Given the description of an element on the screen output the (x, y) to click on. 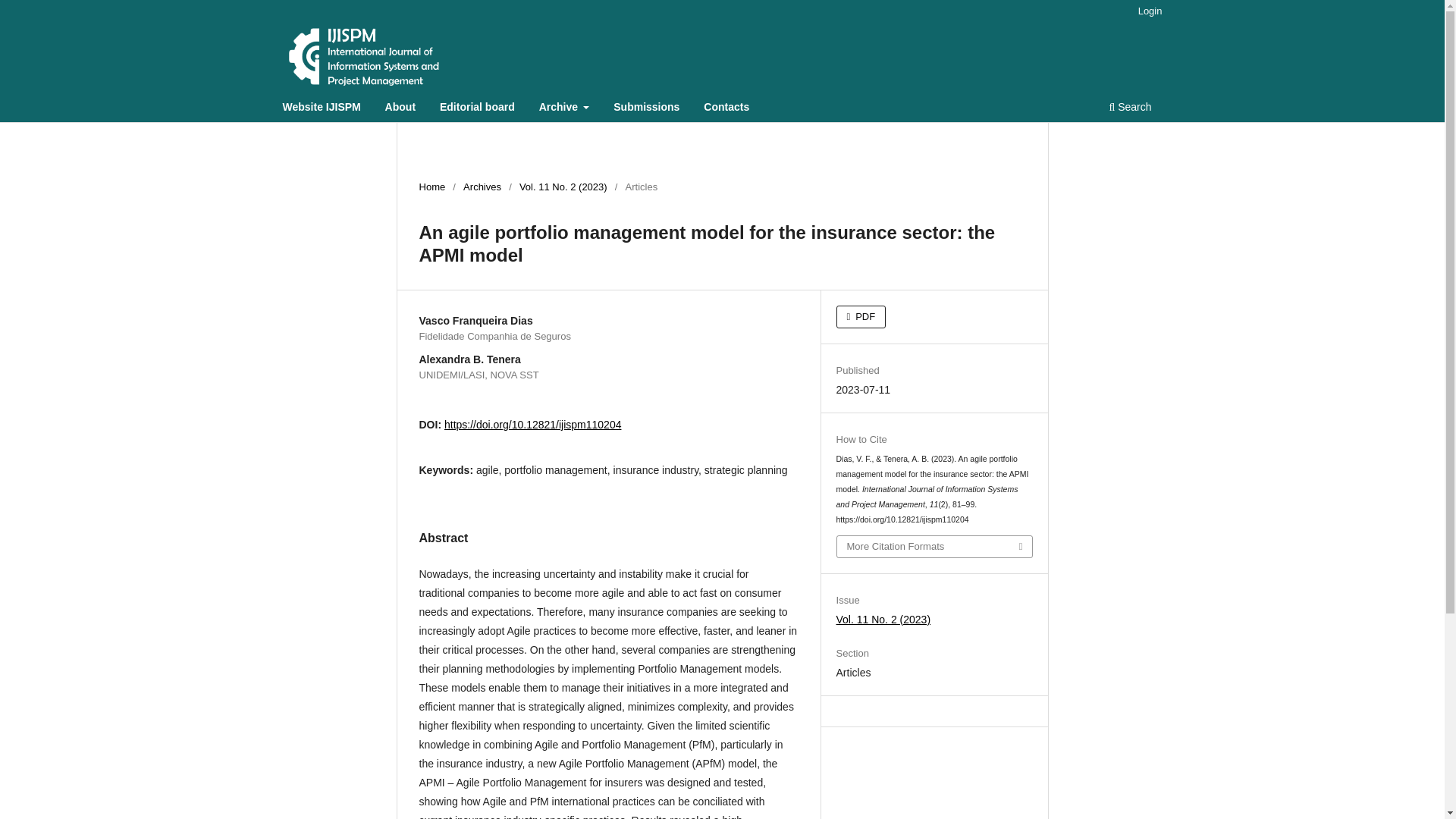
More Citation Formats (934, 546)
Search (1129, 108)
Login (1150, 11)
Home (432, 186)
Editorial board (476, 108)
Website IJISPM (322, 108)
About (400, 108)
Contacts (726, 108)
Archive (564, 108)
Archives (481, 186)
PDF (860, 316)
Submissions (646, 108)
